Given the description of an element on the screen output the (x, y) to click on. 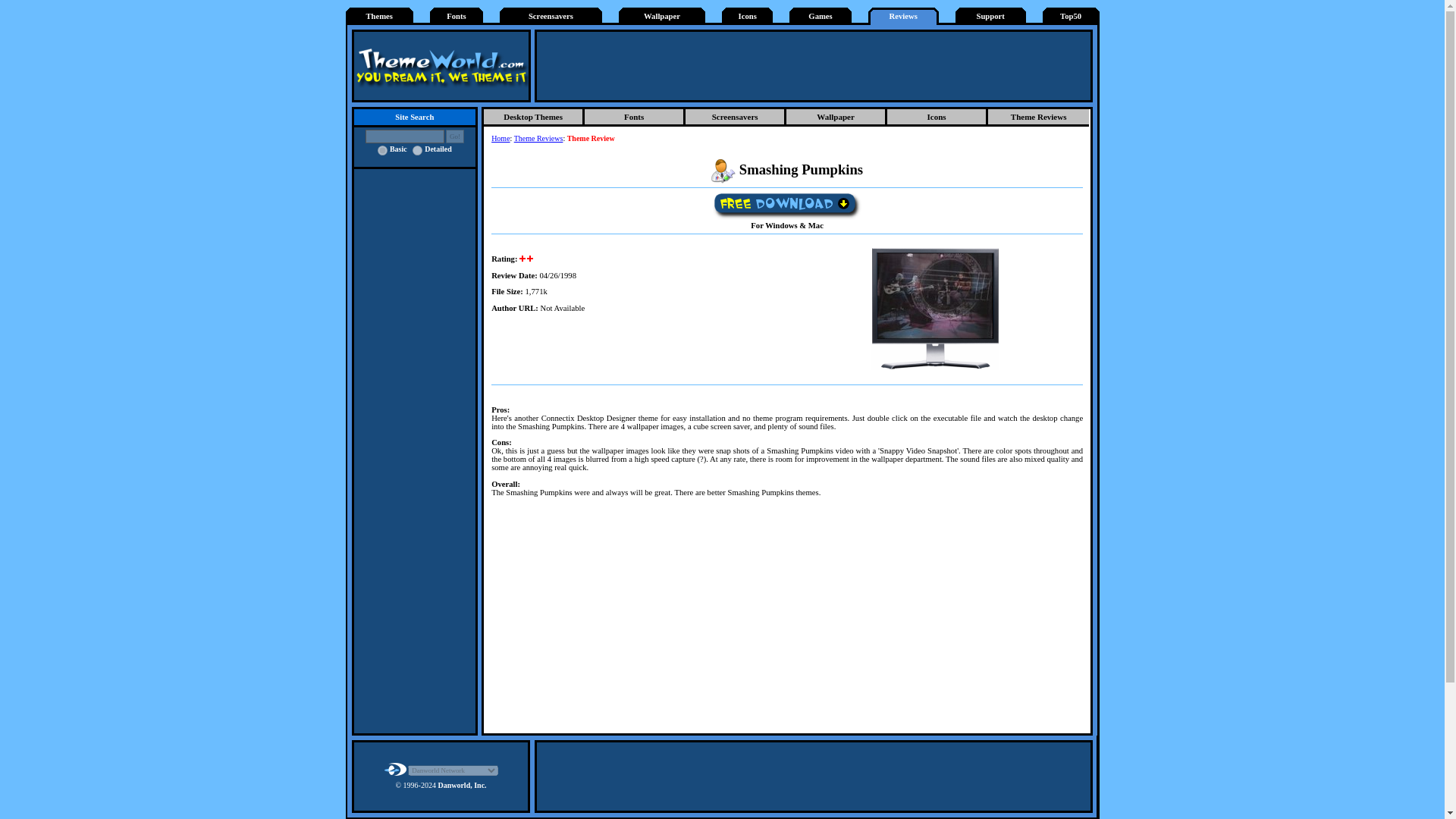
Support (989, 16)
Screensavers (550, 16)
Advertisement (813, 776)
Go! (454, 136)
Top50 (1070, 16)
Advertisement (813, 65)
Desktop Themes (534, 117)
Fonts (455, 16)
Themes (379, 16)
Games (819, 16)
